Given the description of an element on the screen output the (x, y) to click on. 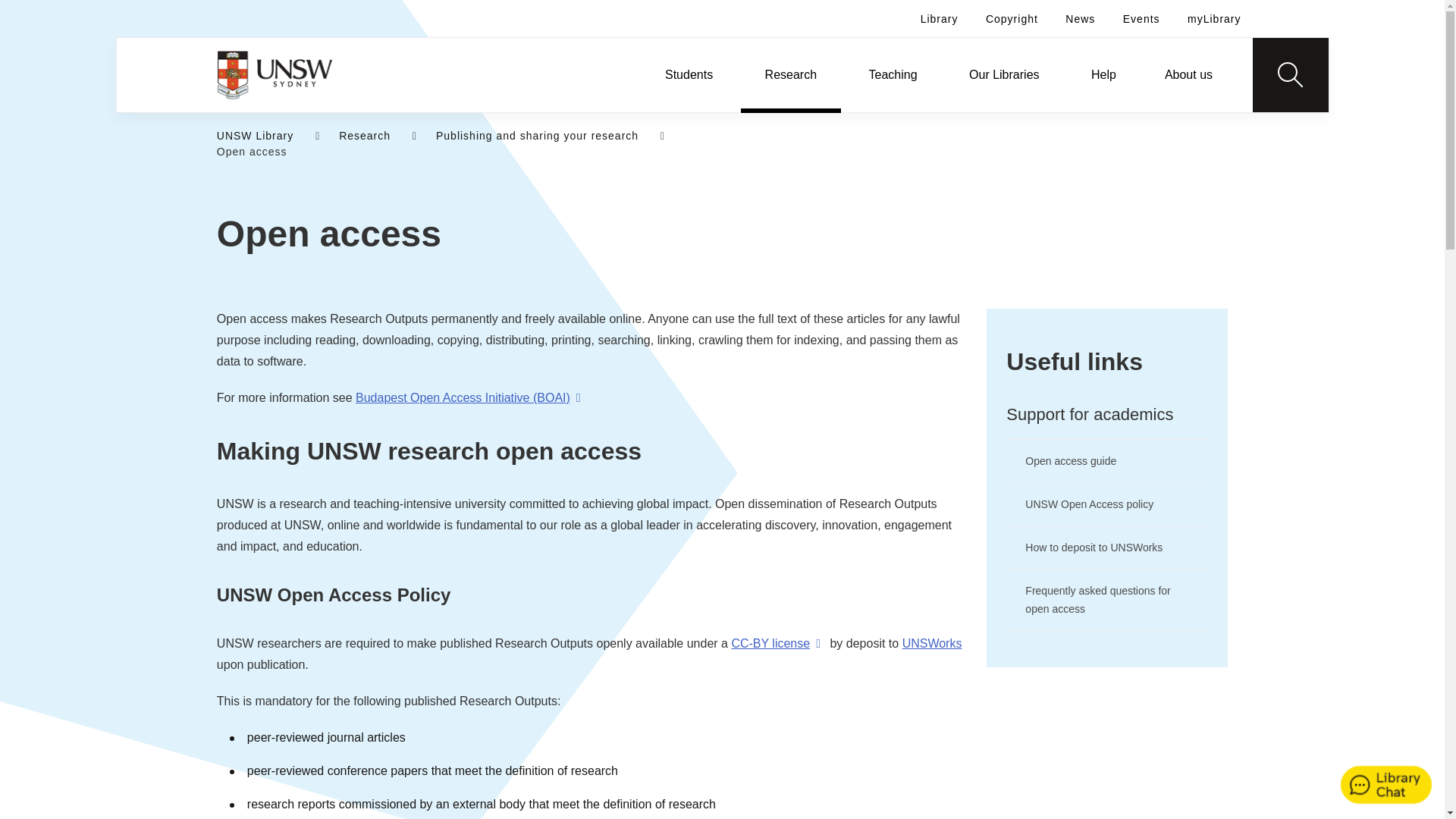
Research (791, 74)
Home (273, 74)
Live chat (1385, 785)
UNSWorks - UNSW Open Access institutional repository (932, 643)
Students (688, 74)
